Given the description of an element on the screen output the (x, y) to click on. 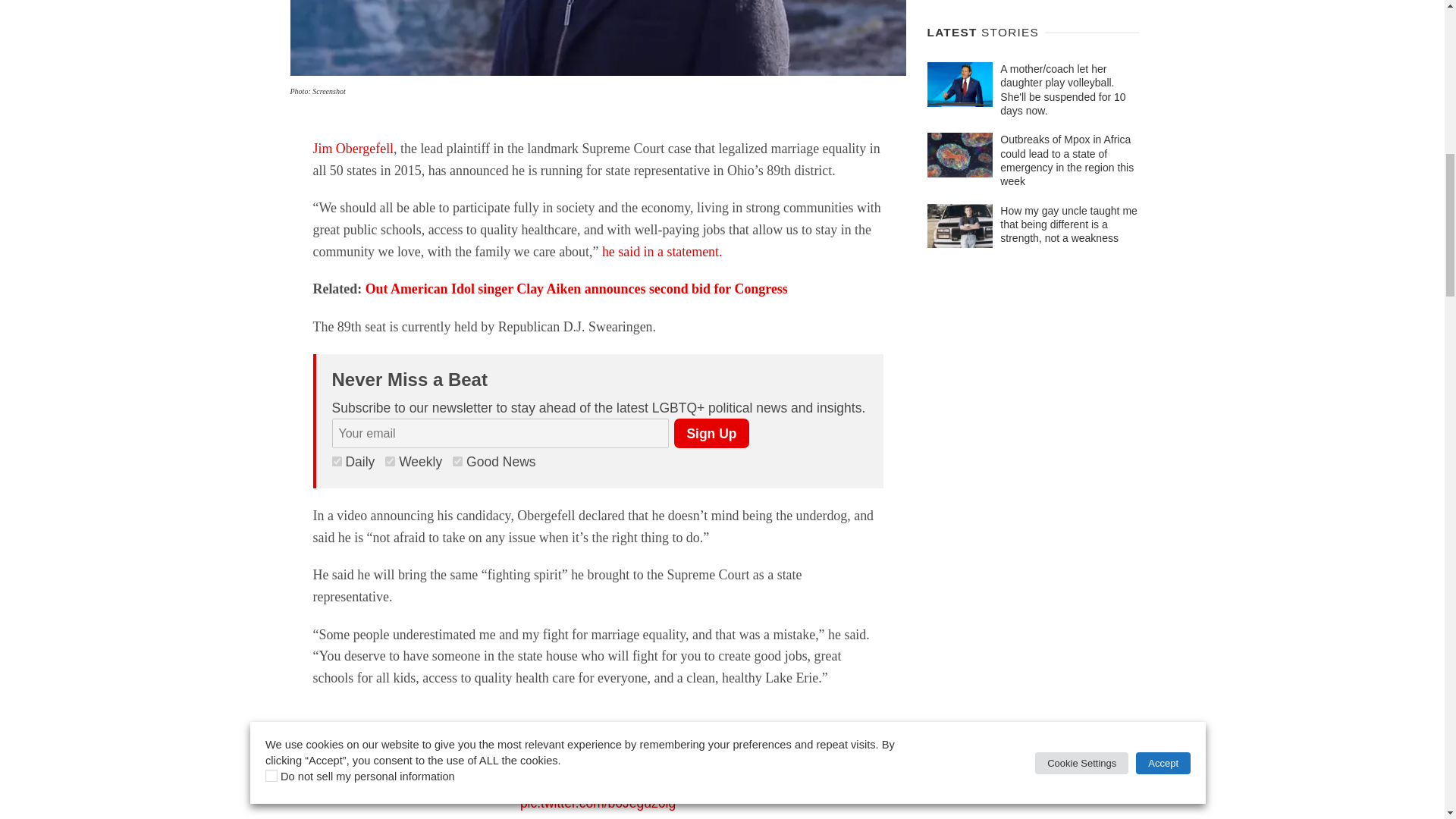
1920883 (457, 461)
Jim Obergefell (353, 148)
Sign Up (711, 432)
1920885 (336, 461)
he said in a statement.  (663, 251)
1920884 (389, 461)
Screen Shot 2022-01-18 at 9.12.07 AM (597, 38)
